Given the description of an element on the screen output the (x, y) to click on. 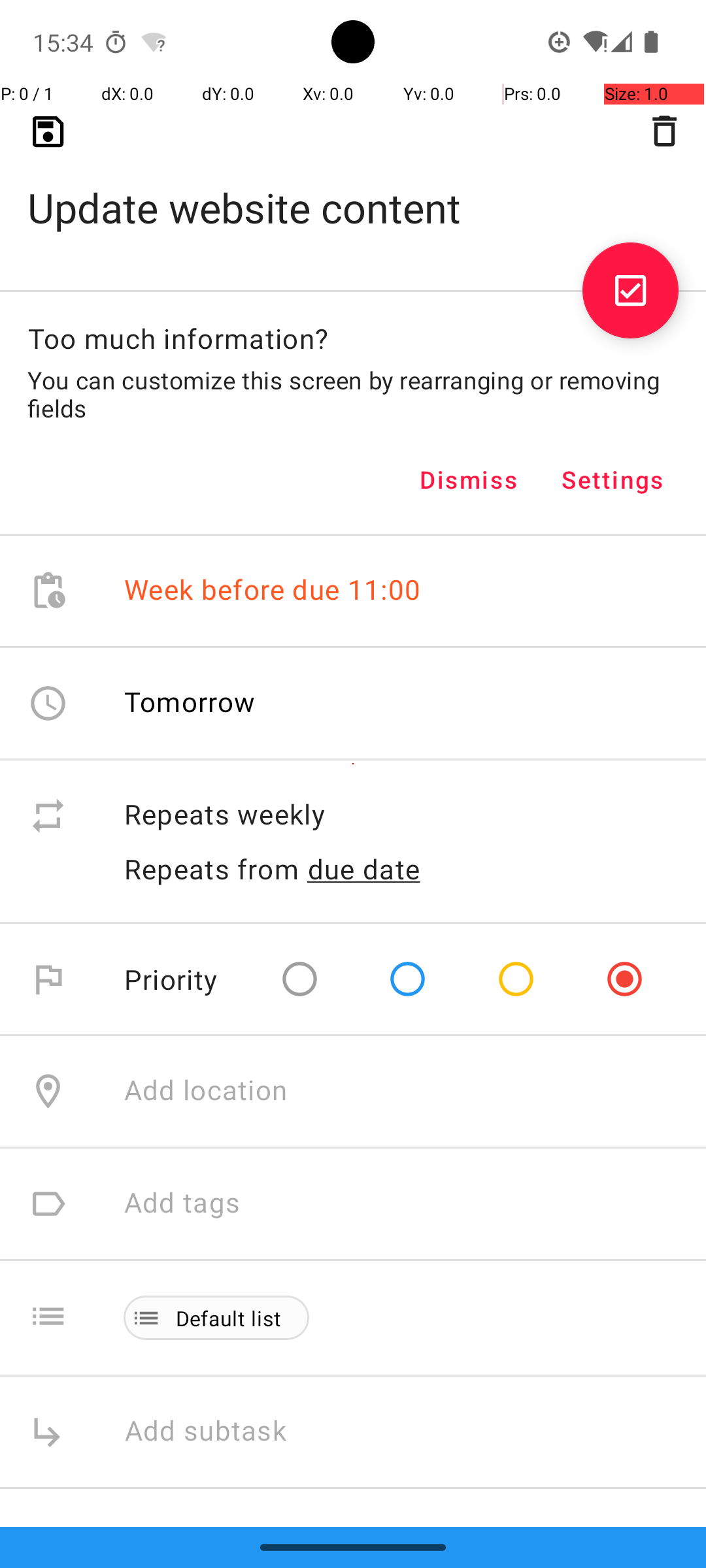
Update website content Element type: android.widget.EditText (353, 186)
Week before due 11:00 Element type: android.widget.TextView (272, 590)
Repeats weekly Element type: android.widget.TextView (400, 815)
